Given the description of an element on the screen output the (x, y) to click on. 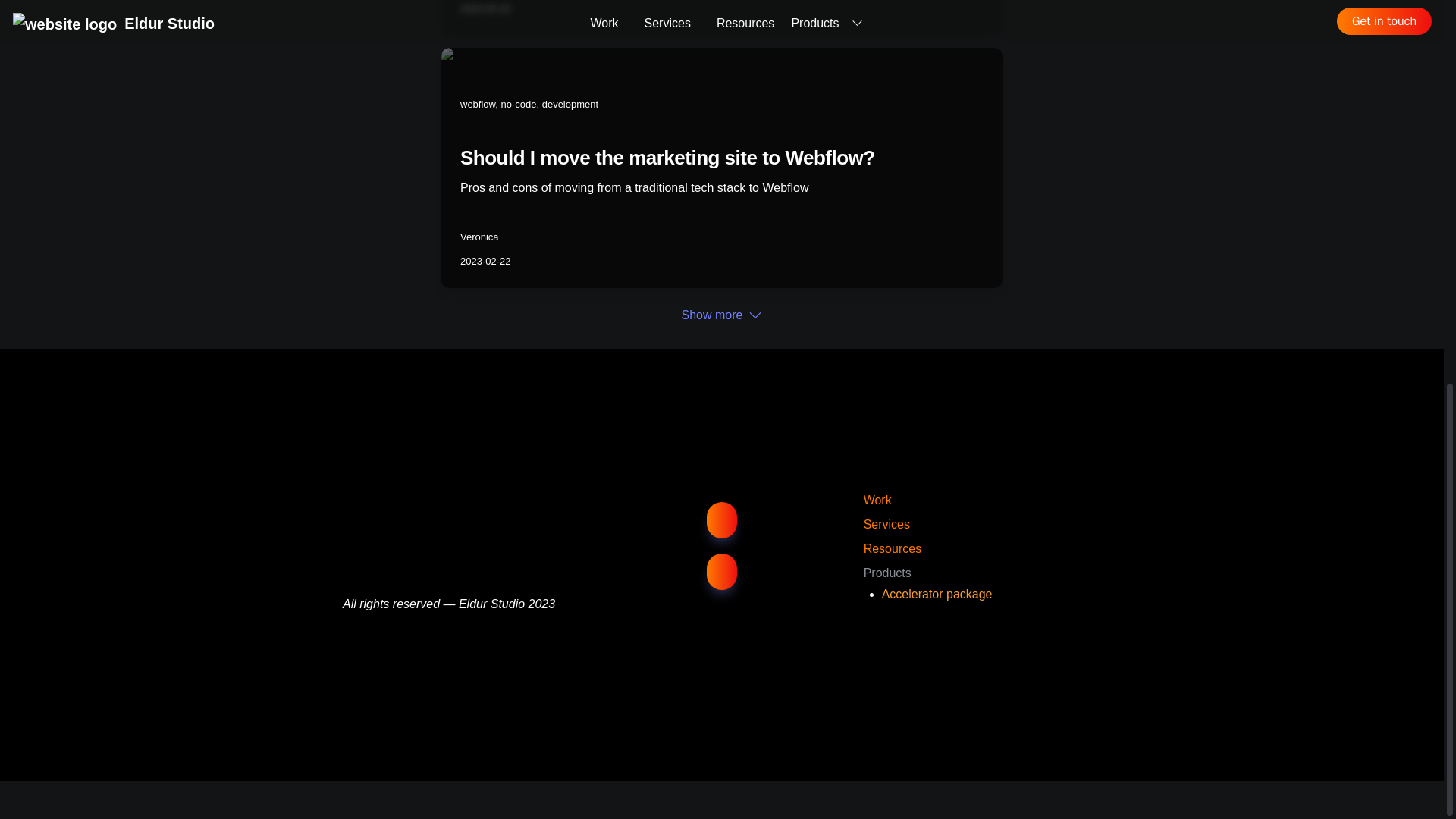
Work (877, 499)
Resources (892, 548)
Accelerator package  (938, 594)
Services (886, 523)
